Given the description of an element on the screen output the (x, y) to click on. 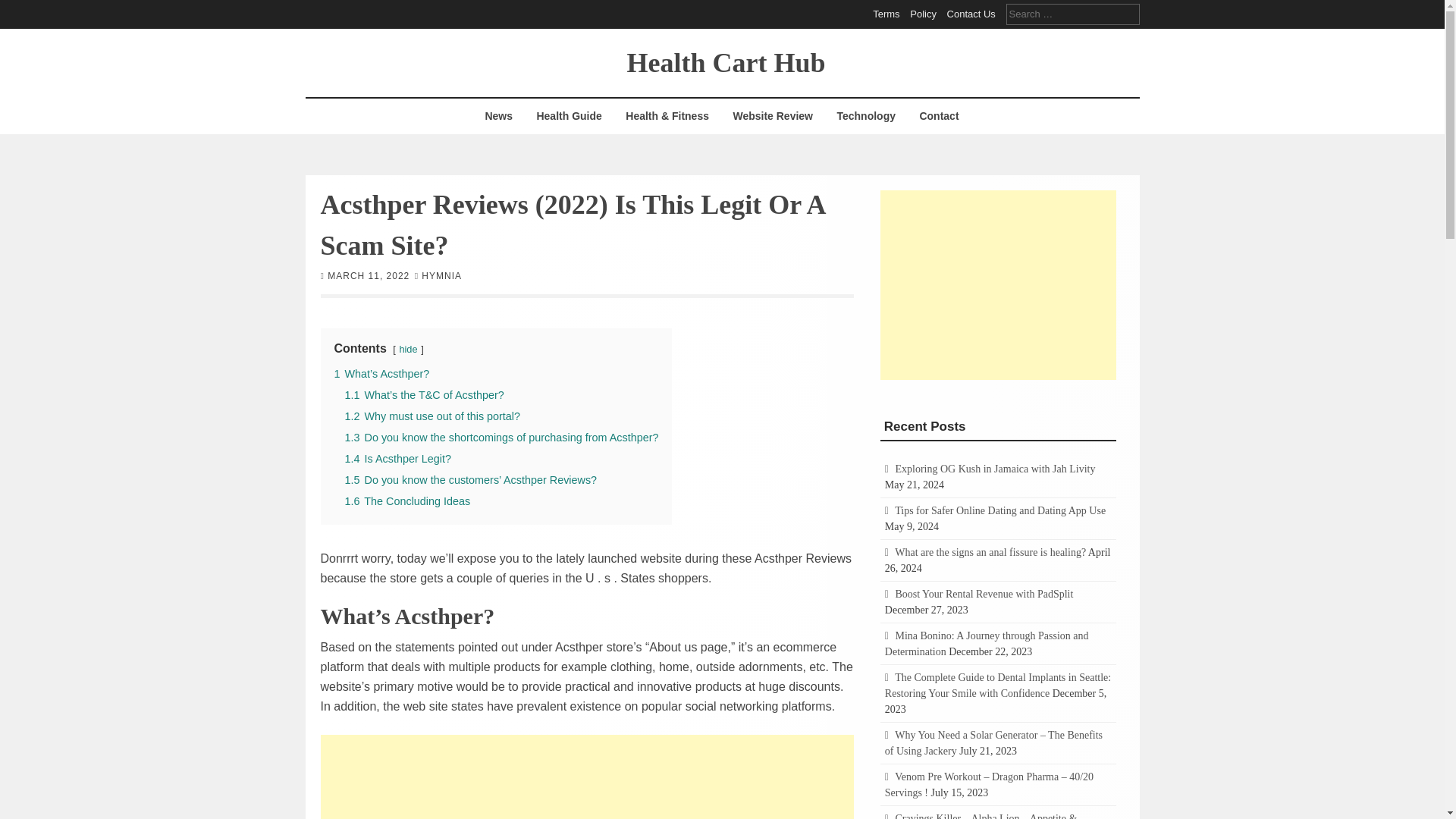
Contact Us (971, 13)
hide (407, 348)
Policy (923, 13)
Search (23, 9)
Mina Bonino: A Journey through Passion and Determination (987, 643)
Advertisement (586, 776)
Contact (938, 116)
Boost Your Rental Revenue with PadSplit (984, 593)
Health Cart Hub (725, 61)
Exploring OG Kush in Jamaica with Jah Livity (994, 469)
Advertisement (998, 284)
Website Review (772, 116)
Tips for Safer Online Dating and Dating App Use (1000, 510)
